Given the description of an element on the screen output the (x, y) to click on. 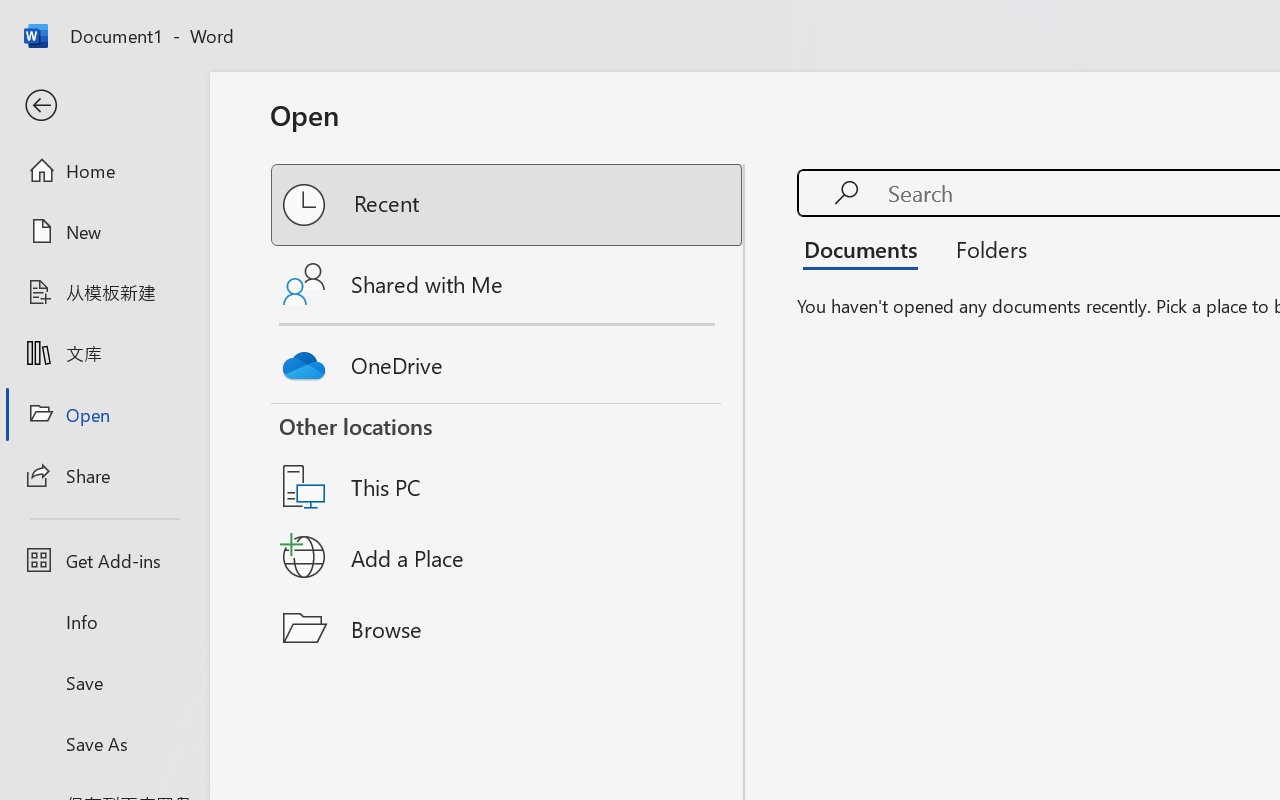
Info (104, 621)
Get Add-ins (104, 560)
Shared with Me (507, 283)
Save As (104, 743)
